Given the description of an element on the screen output the (x, y) to click on. 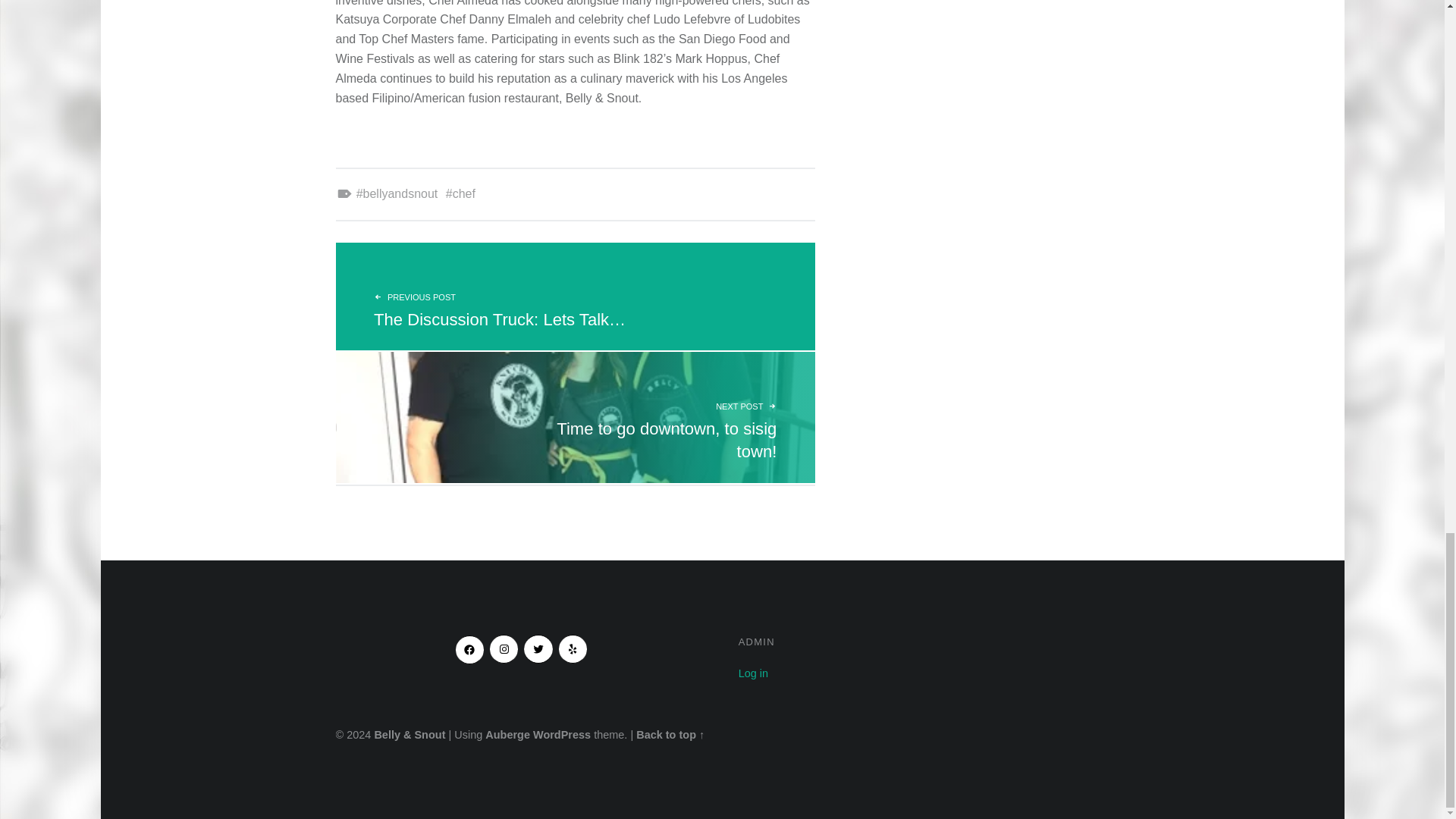
Instagram (573, 417)
bellyandsnout (503, 648)
Twitter (397, 193)
Auberge (537, 648)
WordPress (506, 734)
Facebook (561, 734)
Yelp (469, 649)
Log in (572, 648)
chef (753, 673)
